Given the description of an element on the screen output the (x, y) to click on. 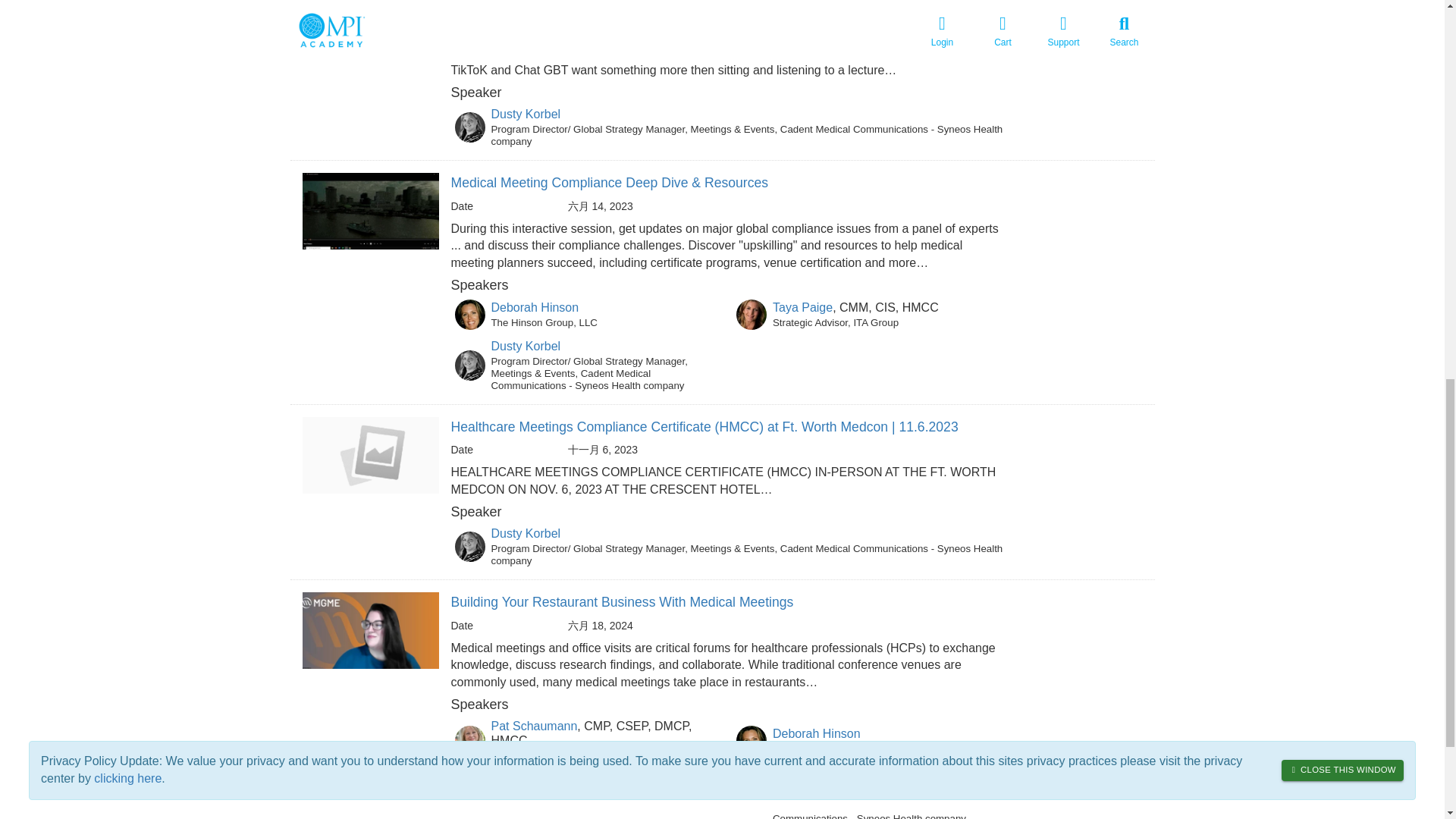
Speaker Image for Dusty Korbel (469, 546)
Deborah Hinson (816, 733)
Building Your Restaurant Business With Medical Meetings (621, 601)
Cheyenne Nelson (540, 789)
Speaker Image for Dusty Korbel (469, 365)
Deborah Hinson (535, 307)
Pat Schaumann (535, 725)
Dusty Korbel (808, 778)
Speaker Image for Deborah Hinson (751, 740)
Speaker Image for Pat Schaumann (469, 740)
Dusty Korbel (526, 113)
Taya Paige (802, 307)
Dusty Korbel (526, 533)
Speaker Image for Taya Paige (751, 314)
Dusty Korbel (526, 345)
